Given the description of an element on the screen output the (x, y) to click on. 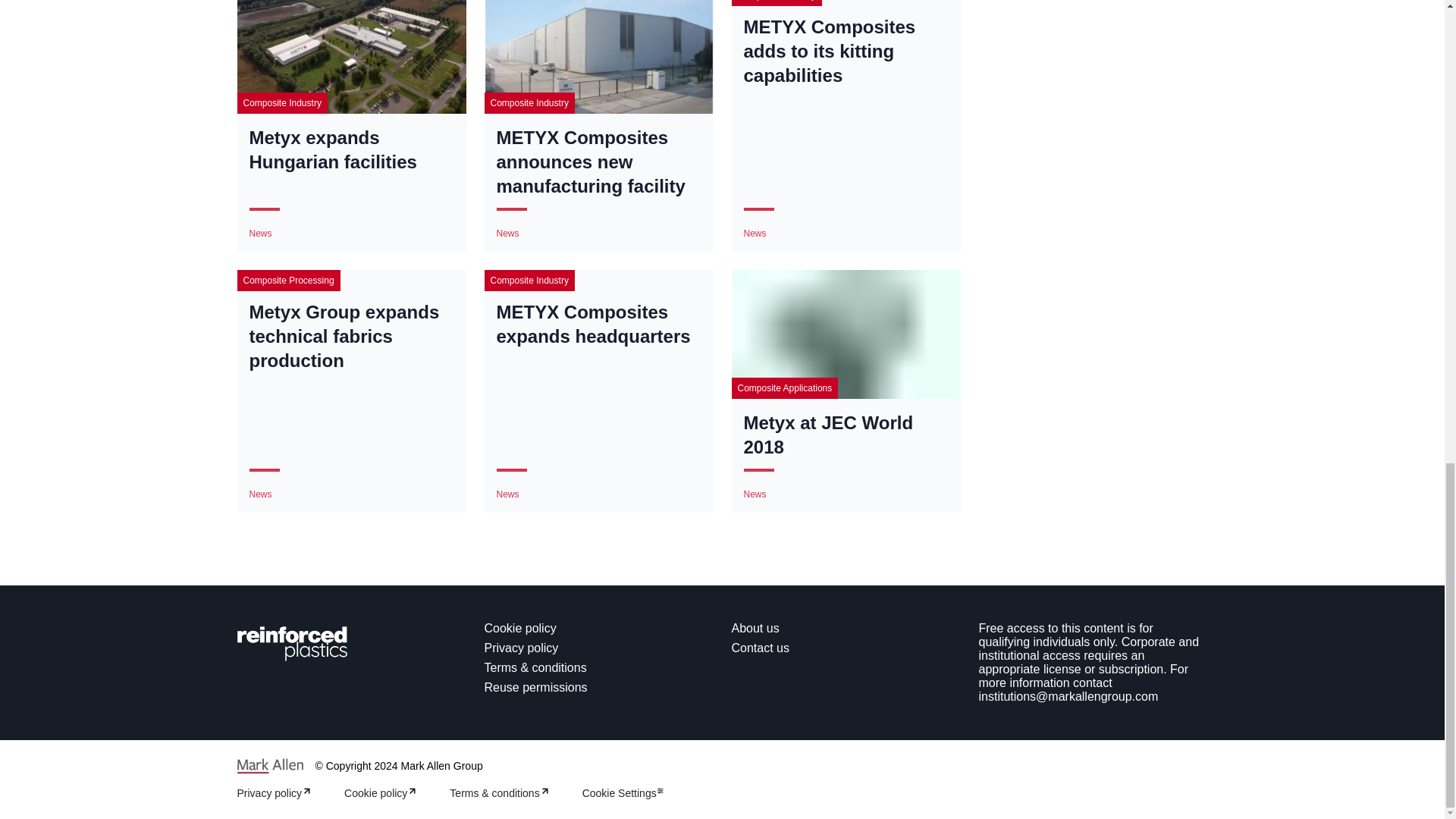
METYX Composites announces new manufacturing facility (598, 162)
News (753, 233)
METYX Composites adds to its kitting capabilities (844, 51)
News (507, 233)
Metyx expands Hungarian facilities (350, 150)
Metyx Group expands technical fabrics production (350, 336)
News (259, 493)
METYX Composites expands headquarters (598, 324)
News (259, 233)
News (507, 493)
